Given the description of an element on the screen output the (x, y) to click on. 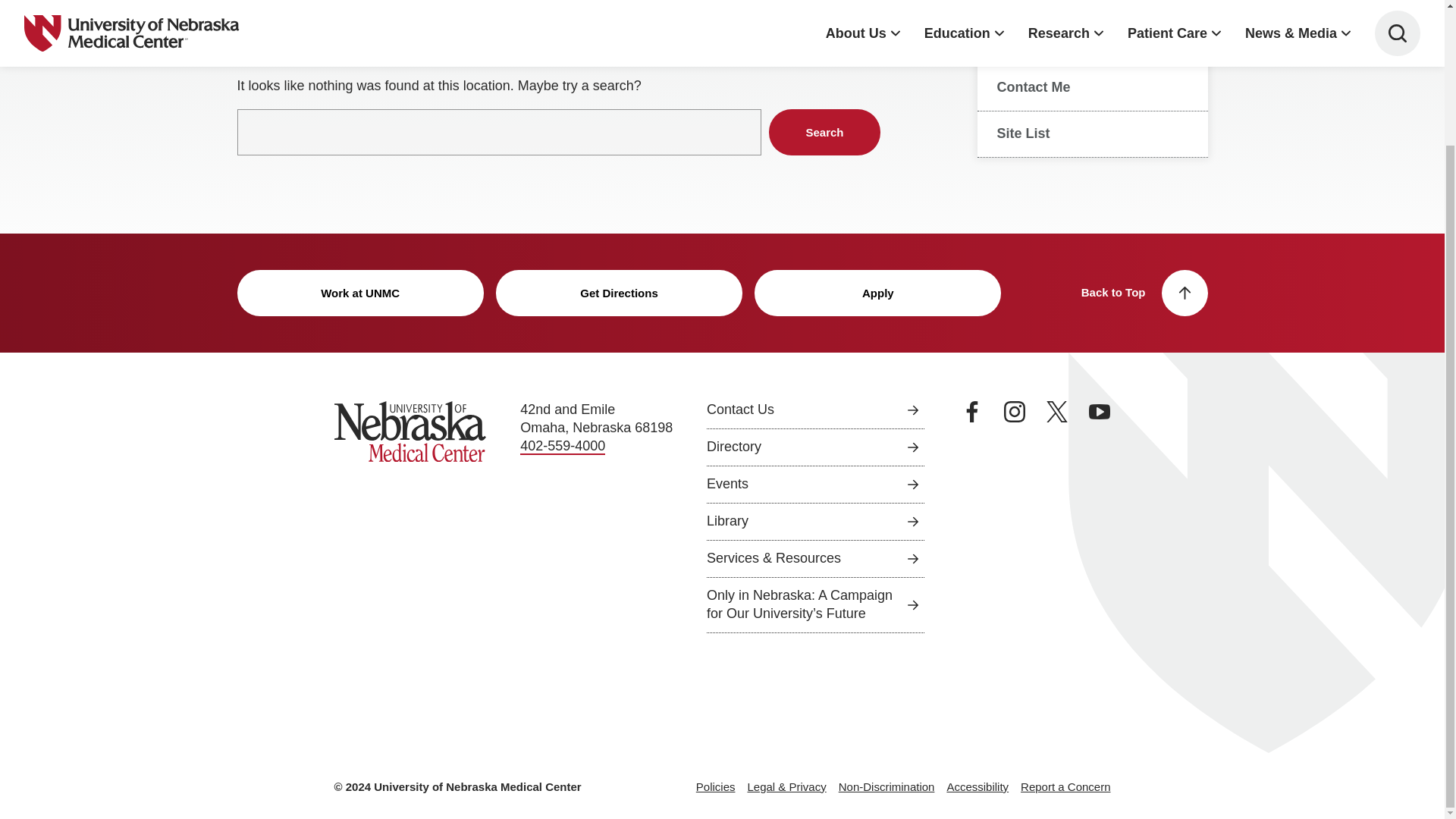
Back to Top (1144, 293)
